Given the description of an element on the screen output the (x, y) to click on. 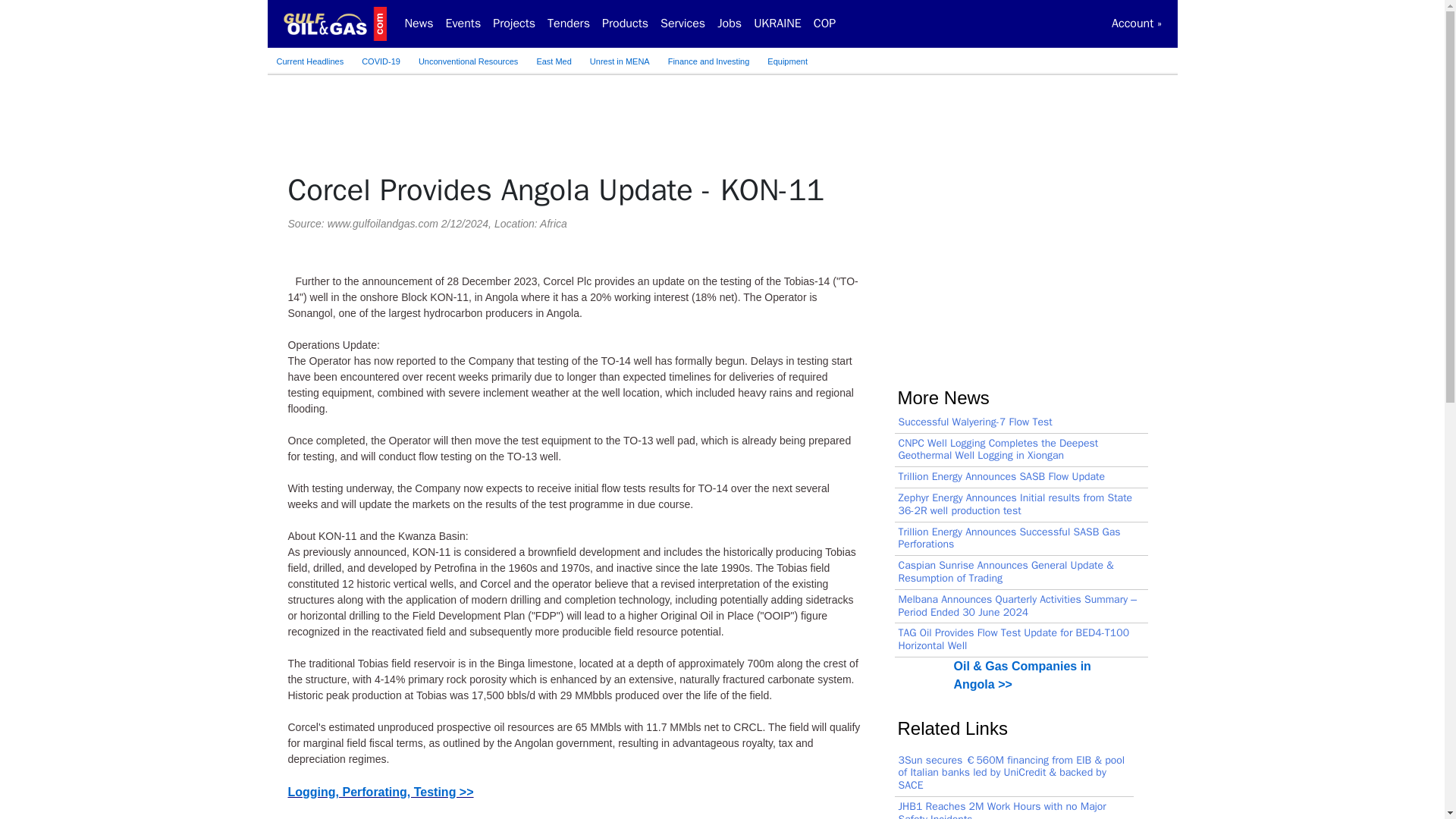
Equipment (787, 61)
Finance and Investing (708, 61)
UKRAINE (778, 23)
East Med (553, 61)
News (418, 23)
Unconventional Resources (468, 61)
Equipment (787, 61)
Current Headlines (309, 61)
Unrest in MENA (619, 61)
Services (682, 23)
COVID-19 (380, 61)
Unconventional Fuels (468, 61)
Tenders (568, 23)
Products (624, 23)
Events (463, 23)
